Given the description of an element on the screen output the (x, y) to click on. 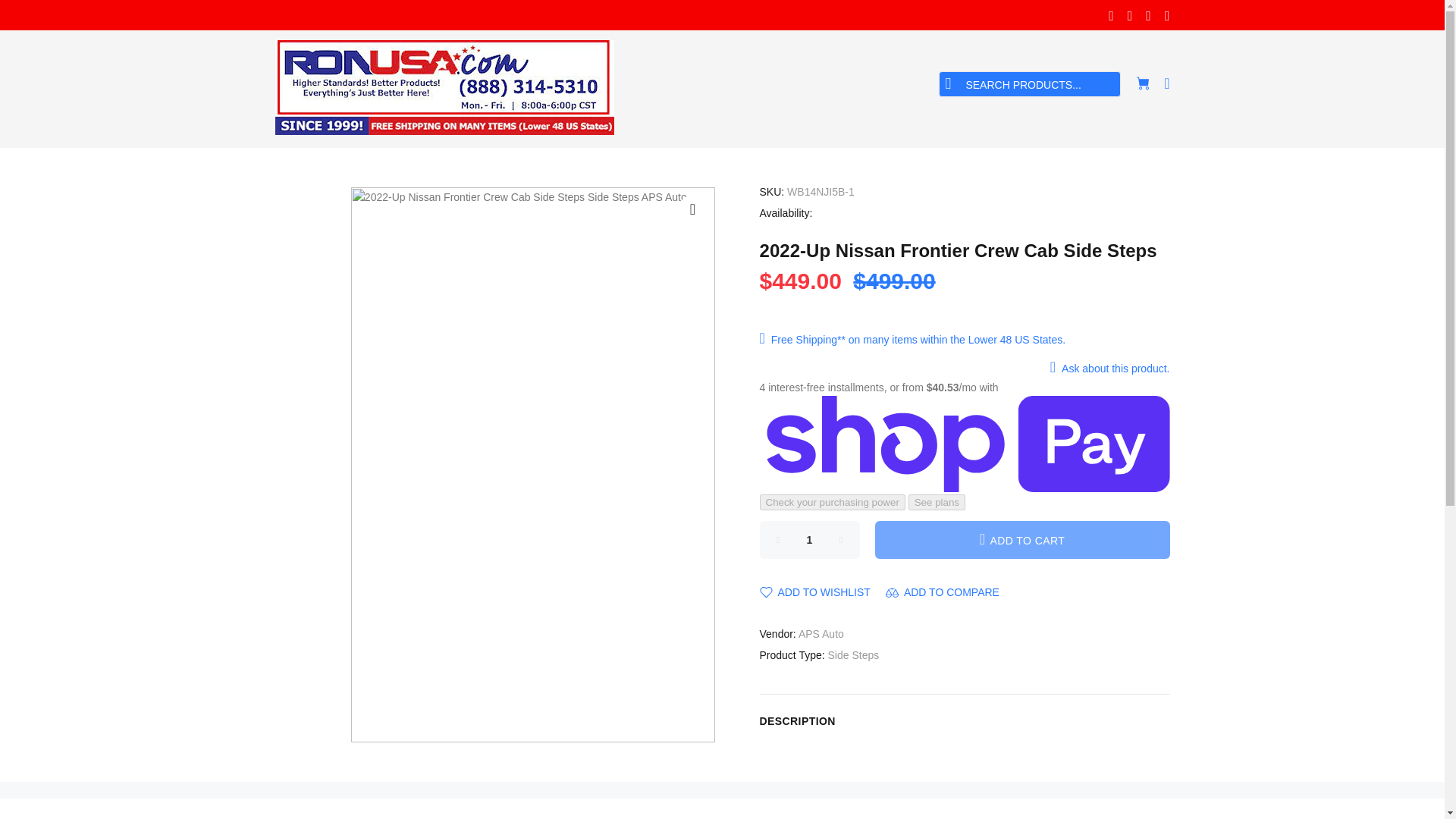
ADD TO WISHLIST (815, 591)
Side Steps (853, 654)
Ask about this product. (1105, 368)
ADD TO COMPARE (941, 591)
1 (810, 538)
ADD TO CART (1022, 538)
APS Auto (820, 633)
